Given the description of an element on the screen output the (x, y) to click on. 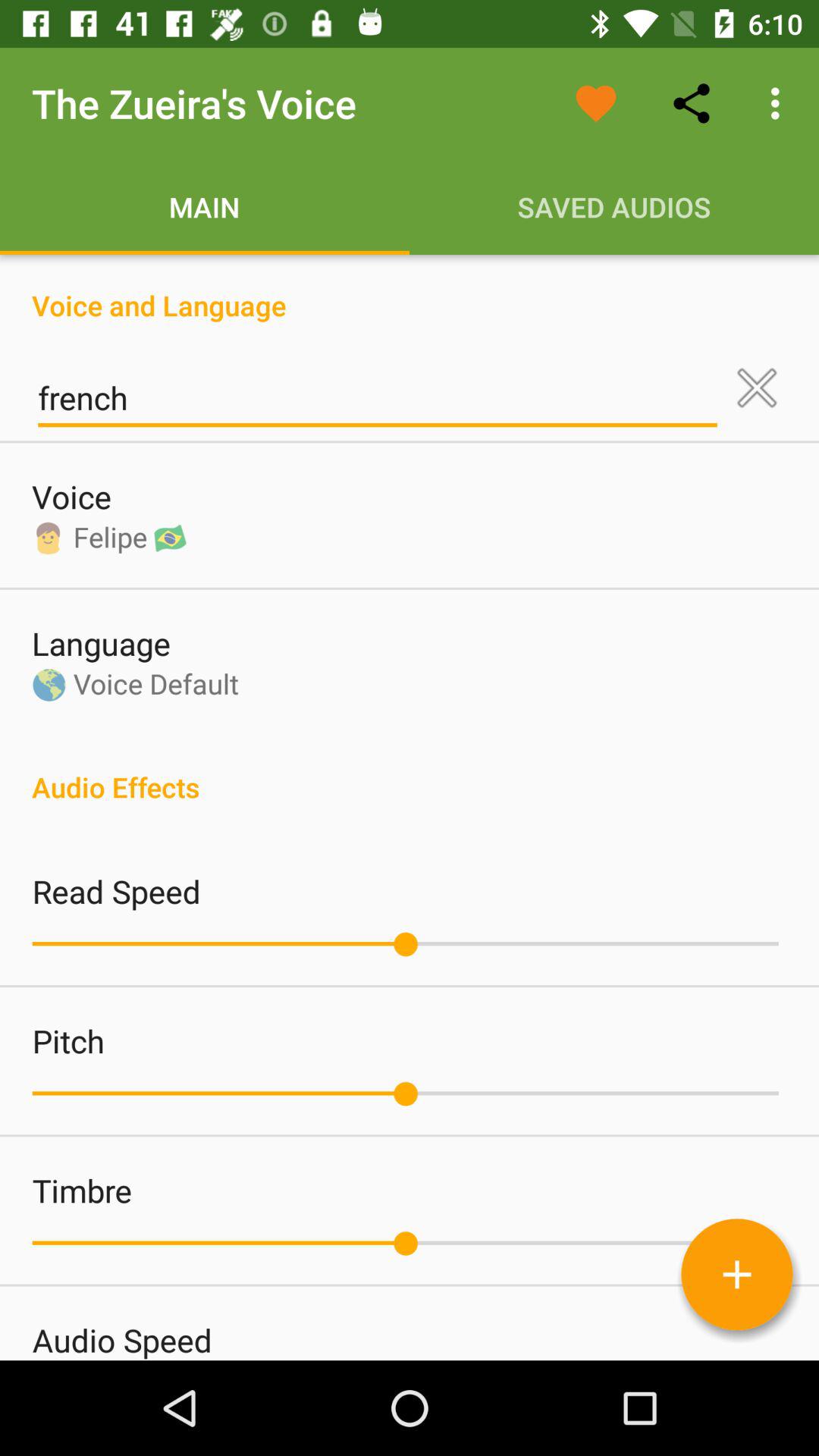
remove french (756, 387)
